Given the description of an element on the screen output the (x, y) to click on. 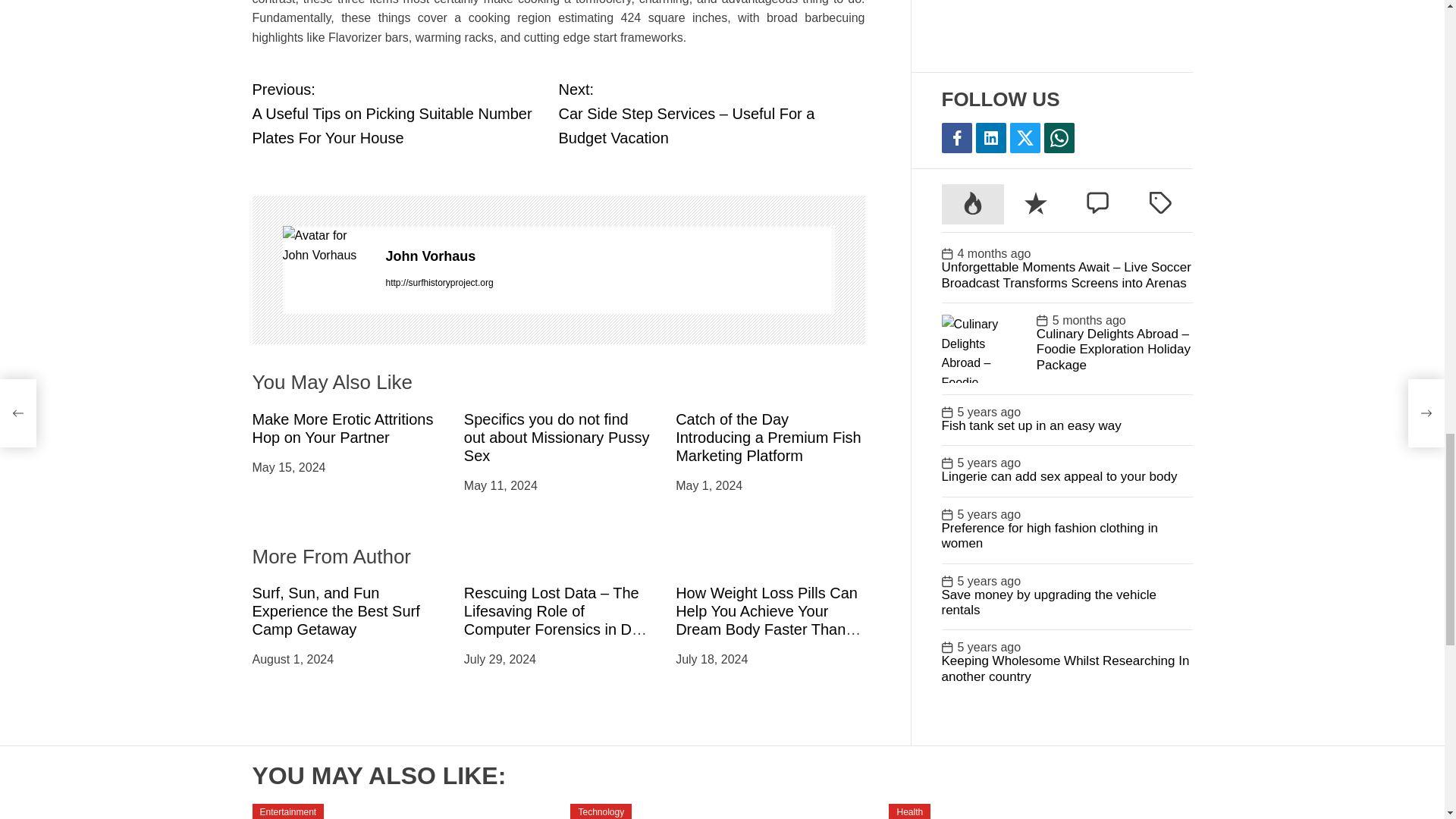
John Vorhaus (609, 256)
John Vorhaus (325, 245)
John Vorhaus (609, 256)
